Given the description of an element on the screen output the (x, y) to click on. 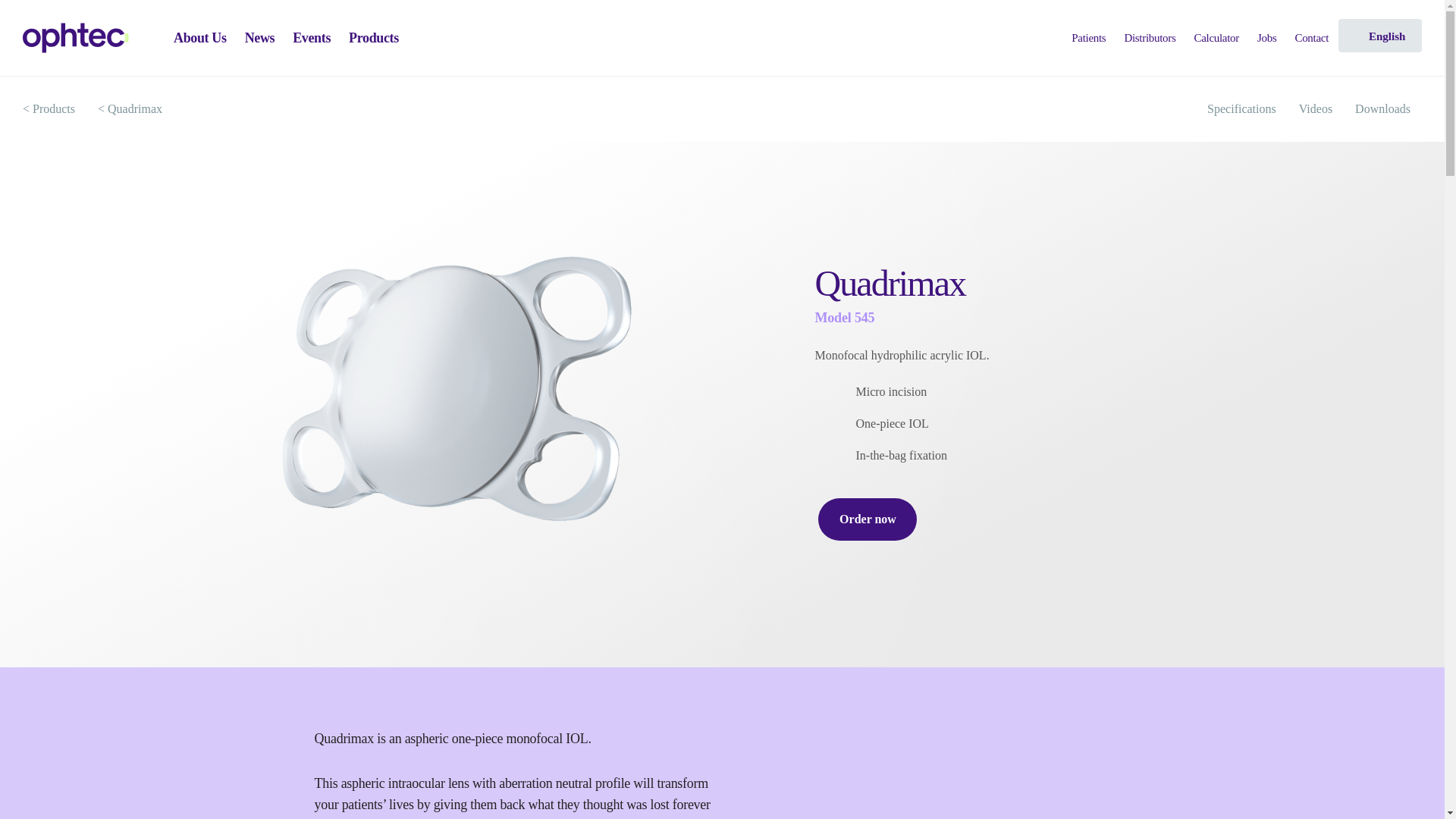
Events (311, 37)
Downloads (1382, 108)
Products (373, 37)
Patients (1087, 38)
Distributors (1149, 38)
Specifications (1241, 108)
Videos (1315, 108)
Calculator (1215, 38)
Order now (867, 518)
Contact (1310, 38)
